Given the description of an element on the screen output the (x, y) to click on. 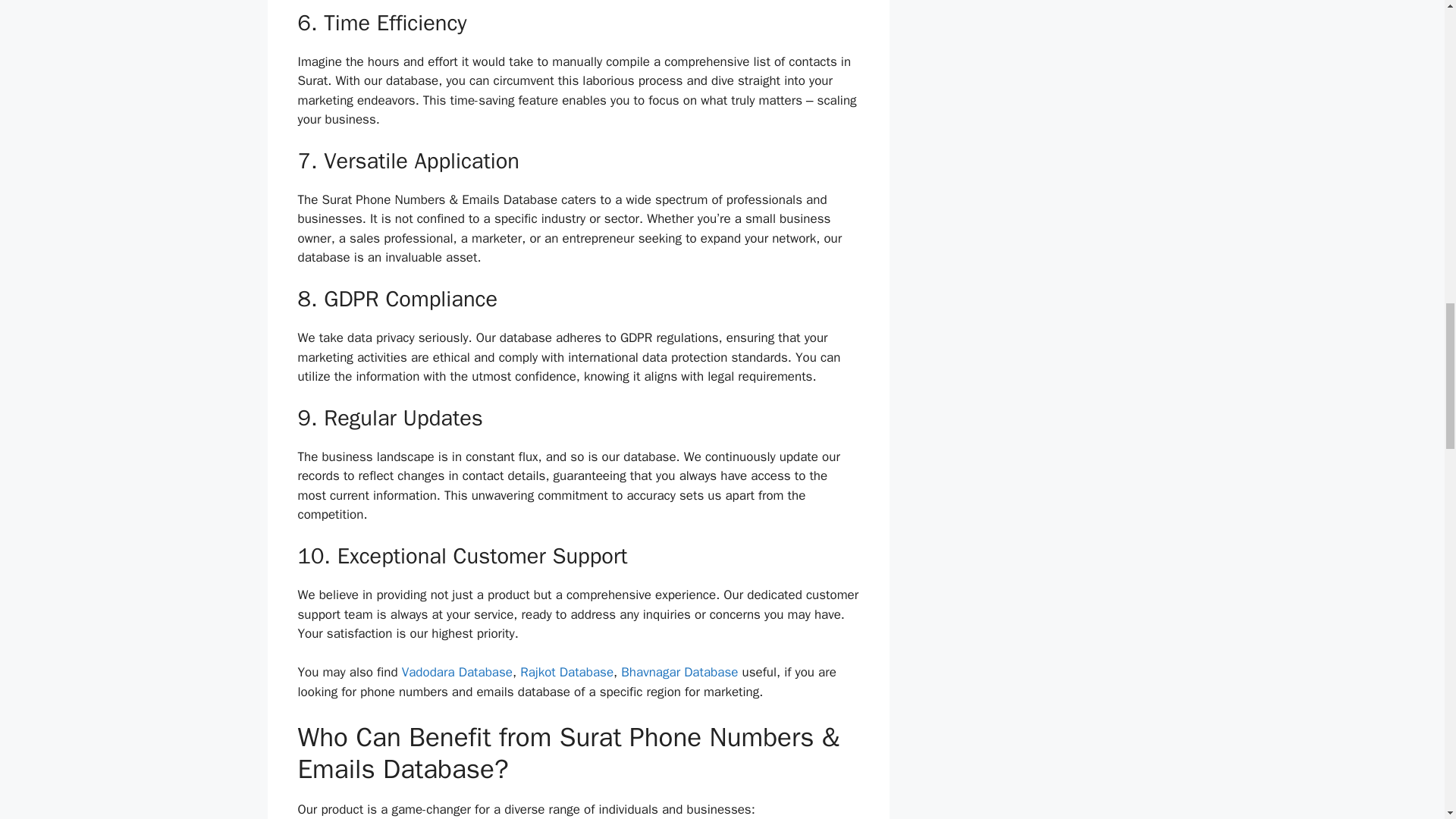
Vadodara Database (456, 672)
Bhavnagar Database (679, 672)
Rajkot Database (565, 672)
